Given the description of an element on the screen output the (x, y) to click on. 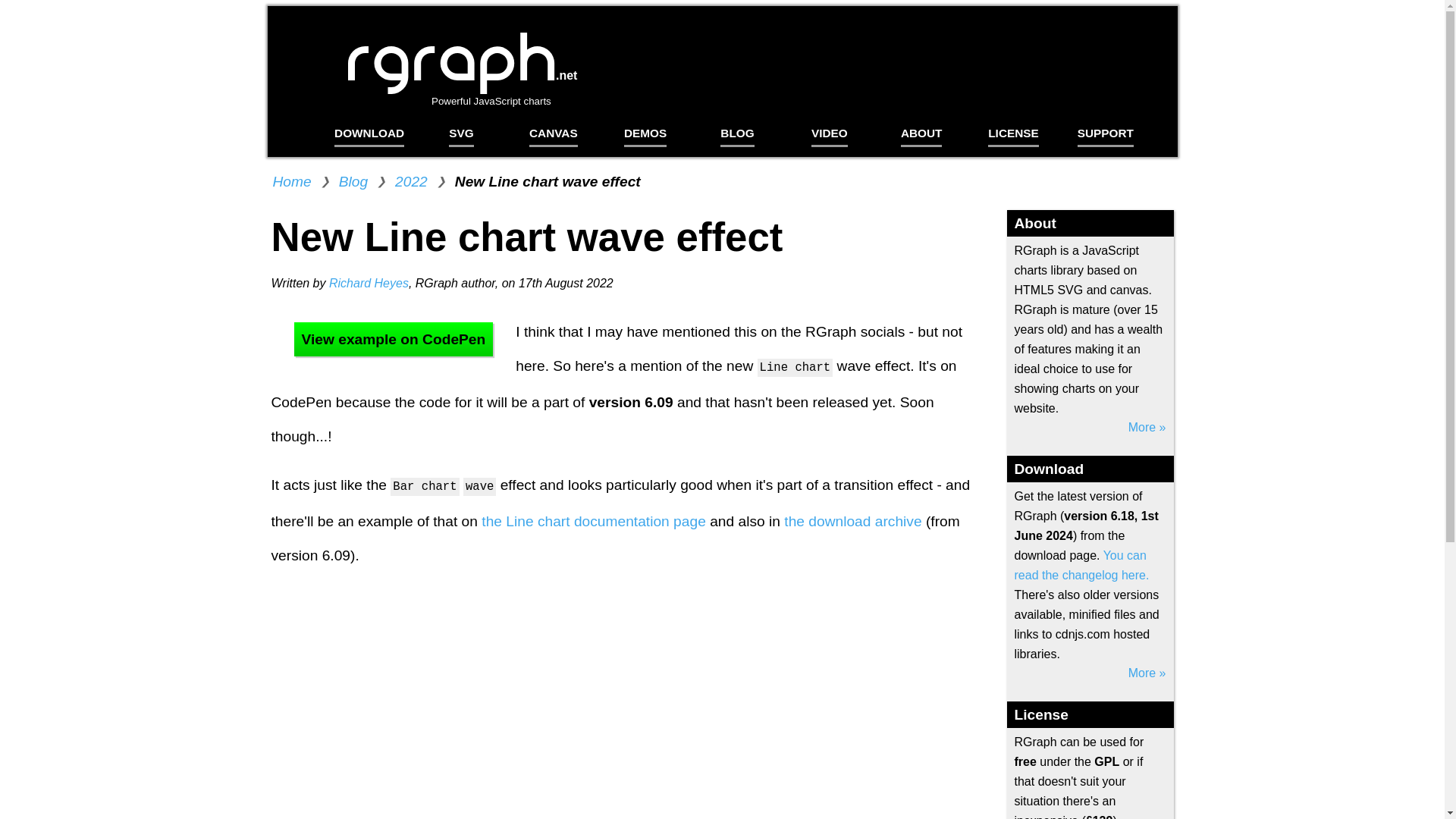
Home (292, 181)
DOWNLOAD (368, 129)
DEMOS (644, 129)
ABOUT (921, 129)
View example on CodePen (393, 339)
BLOG (736, 129)
SUPPORT (1105, 129)
Blog (353, 181)
LICENSE (1013, 129)
the Line chart documentation page (593, 521)
Richard Heyes (369, 282)
CANVAS (552, 129)
2022 (411, 181)
You can read the changelog here. (427, 110)
